Given the description of an element on the screen output the (x, y) to click on. 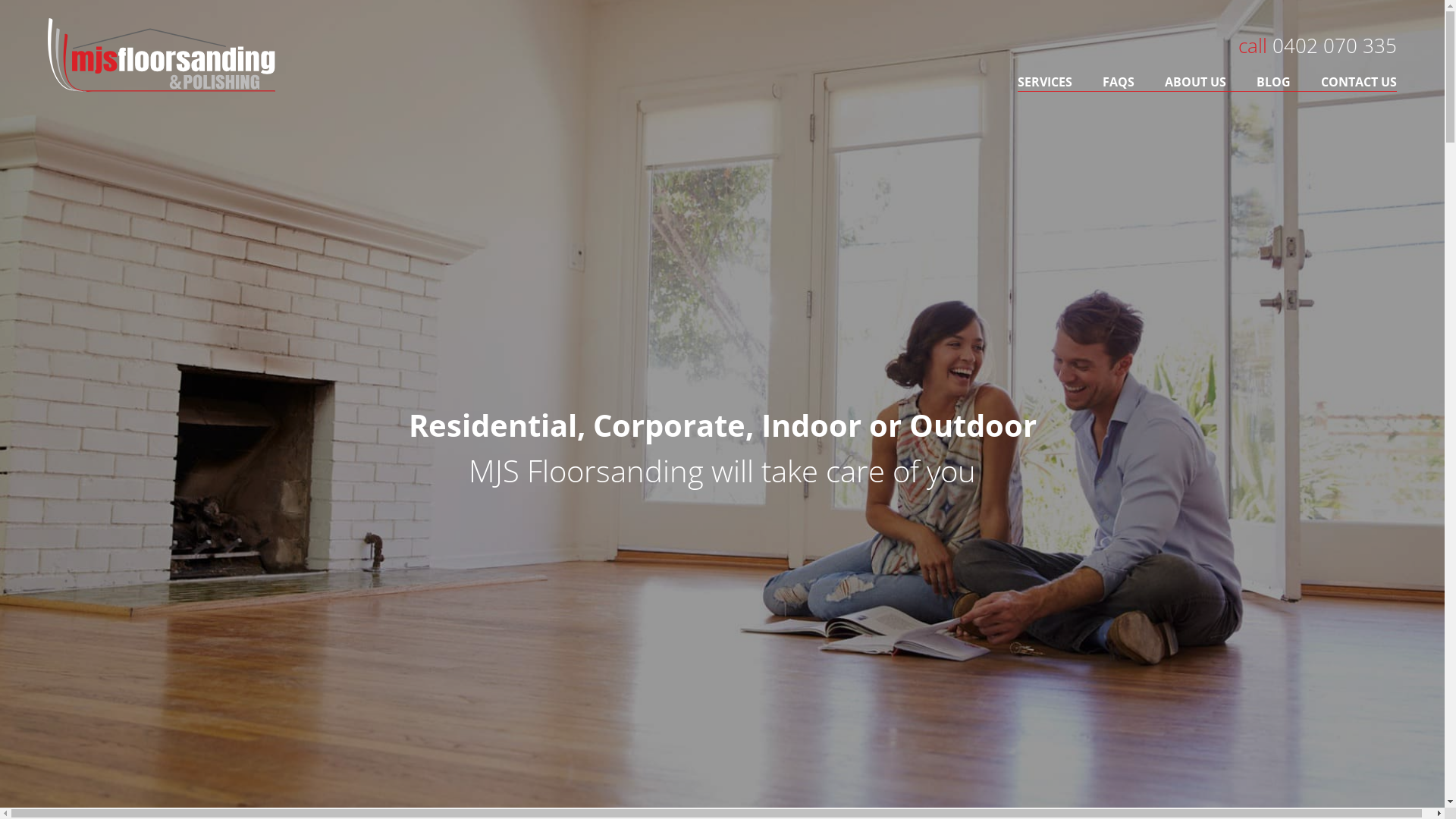
FAQS Element type: text (1118, 81)
ABOUT US Element type: text (1195, 81)
CONTACT US Element type: text (1350, 81)
0402 070 335 Element type: text (1334, 45)
SERVICES Element type: text (1052, 81)
BLOG Element type: text (1273, 81)
